Given the description of an element on the screen output the (x, y) to click on. 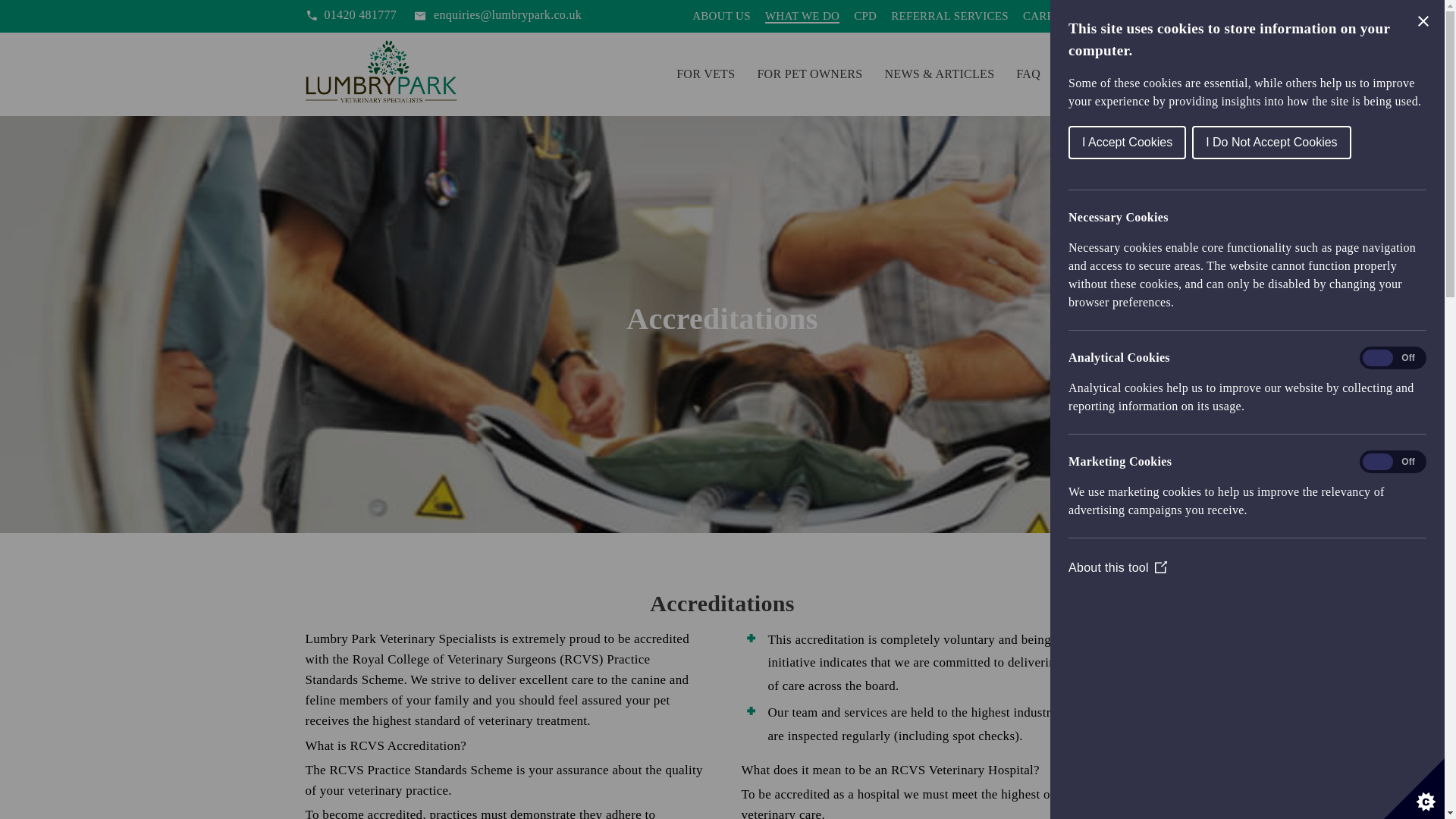
REFERRAL SERVICES (950, 16)
FOR PET OWNERS (809, 73)
CPD (864, 16)
ABOUT US (722, 16)
FAQ (1028, 73)
WHAT WE DO (802, 16)
CONTACT US (1100, 73)
CAREERS (1049, 16)
FOR VETS (706, 73)
01420 481777 (350, 15)
